Given the description of an element on the screen output the (x, y) to click on. 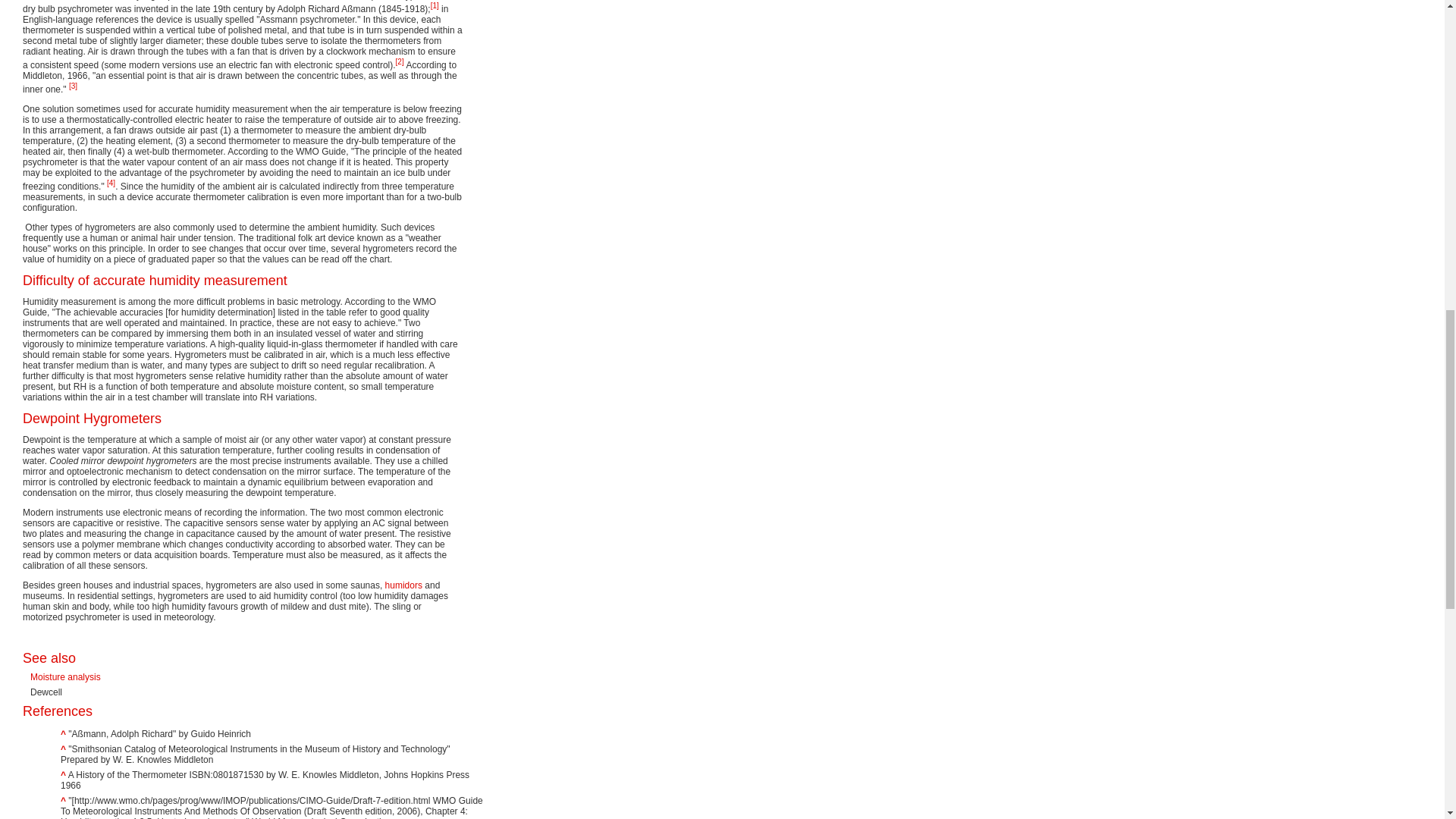
Moisture analysis (65, 676)
Humidor (403, 584)
